Given the description of an element on the screen output the (x, y) to click on. 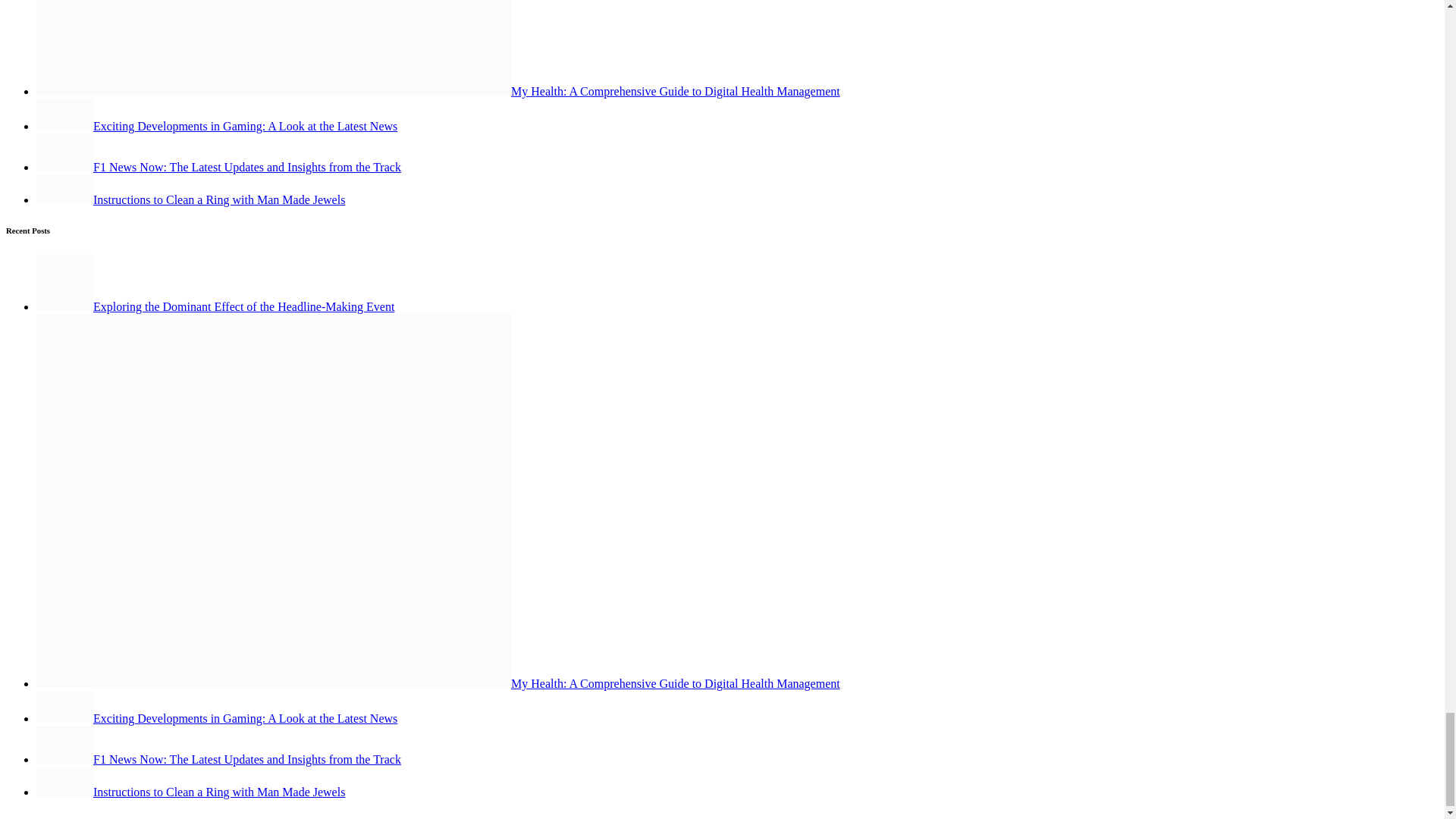
F1 News Now (64, 152)
F1 News Now (64, 744)
